Given the description of an element on the screen output the (x, y) to click on. 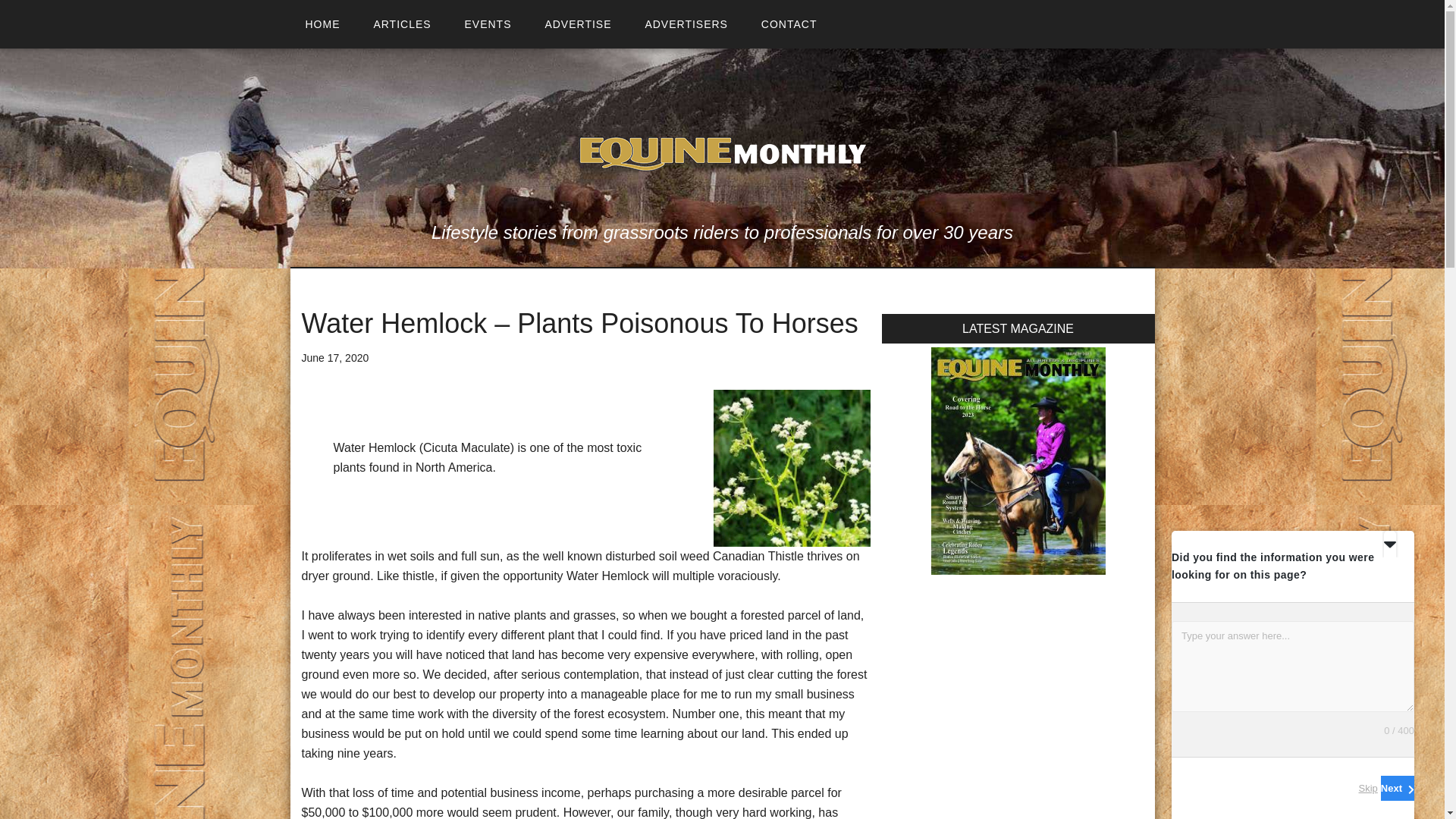
HOME (322, 24)
CONTACT (788, 24)
EVENTS (486, 24)
ARTICLES (401, 24)
ADVERTISE (577, 24)
ADVERTISERS (685, 24)
